Given the description of an element on the screen output the (x, y) to click on. 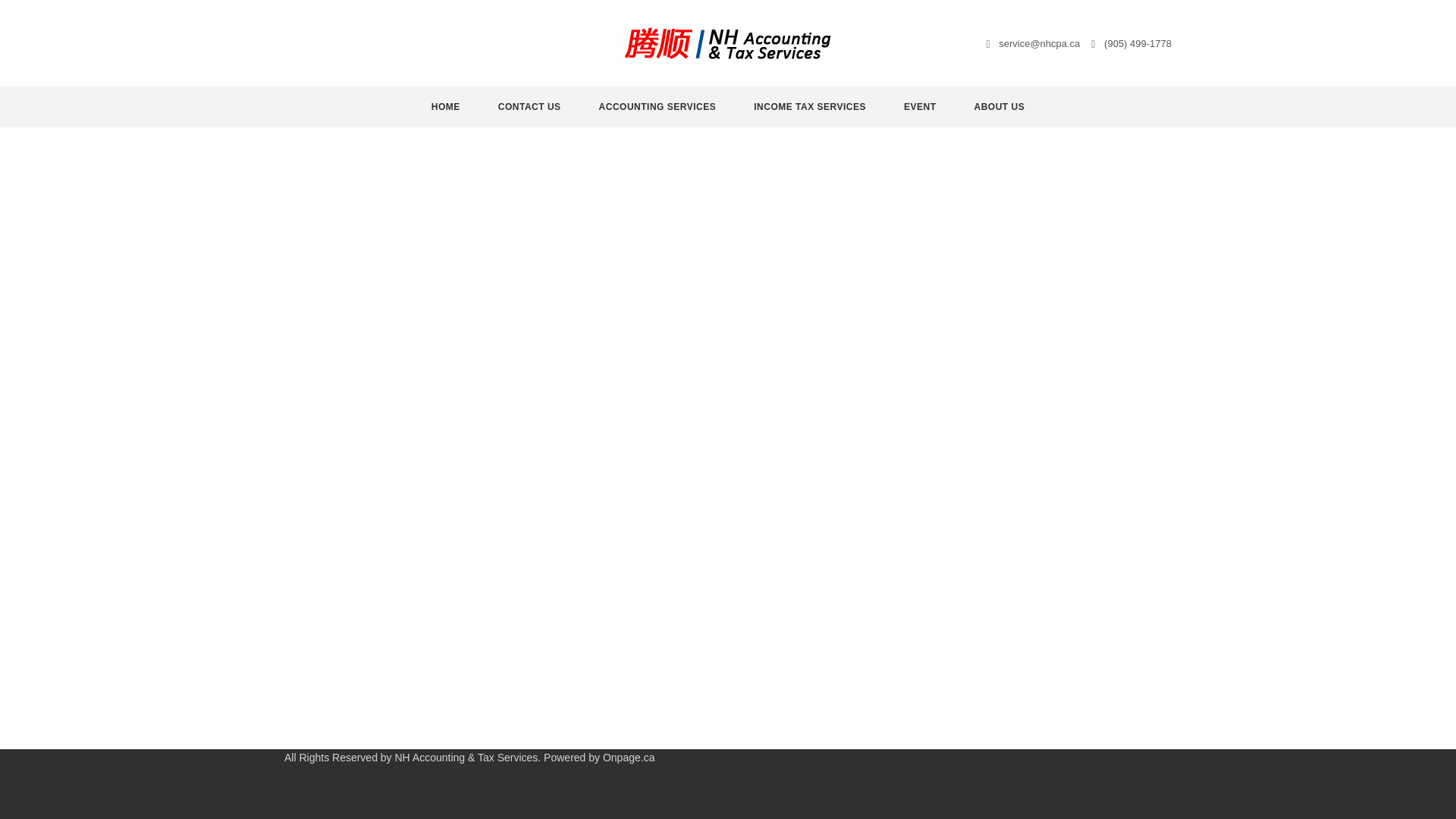
ACCOUNTING SERVICES (658, 106)
ABOUT US (999, 106)
INCOME TAX SERVICES (809, 106)
EVENT (919, 106)
HOME (445, 106)
Onpage.ca (628, 757)
CONTACT US (529, 106)
